Given the description of an element on the screen output the (x, y) to click on. 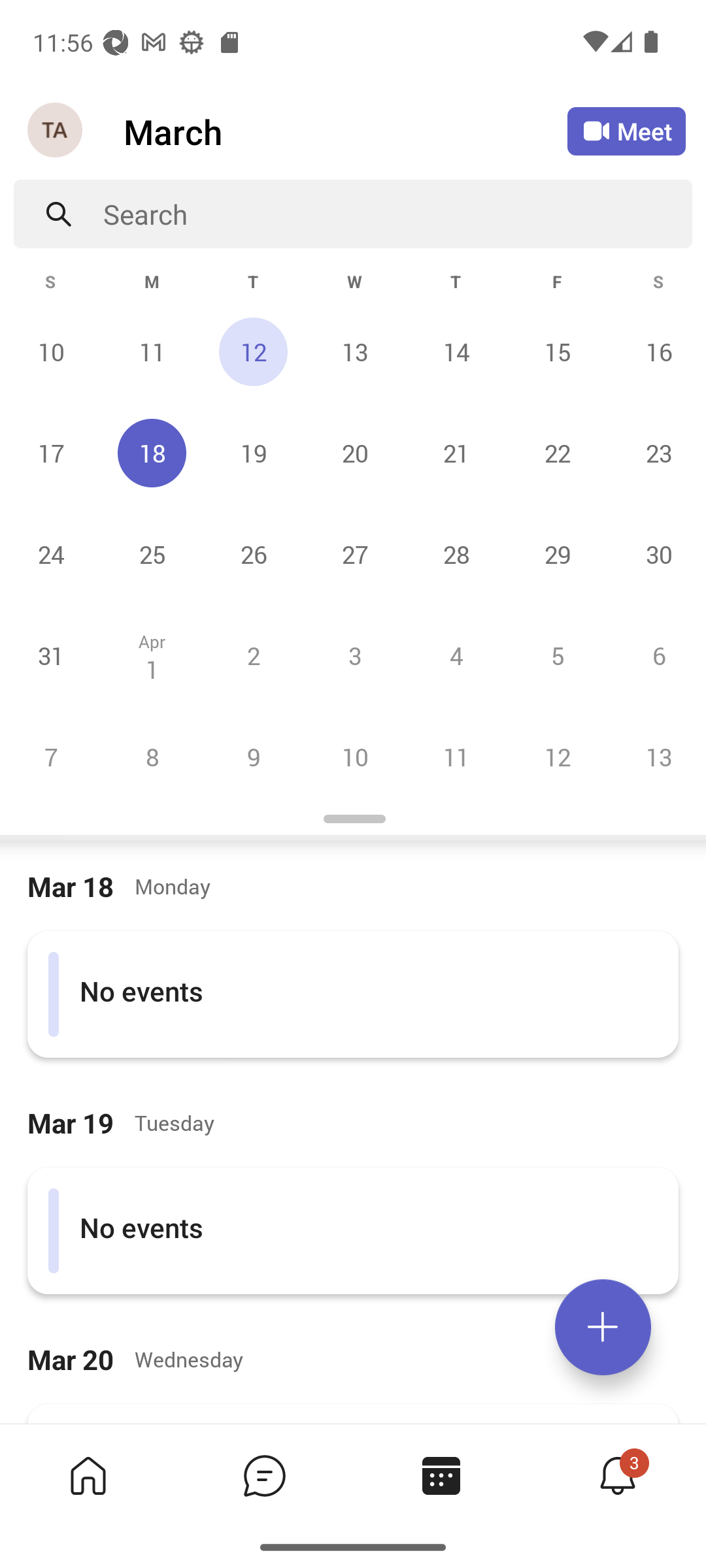
Navigation (56, 130)
Meet Meet now or join with an ID (626, 130)
March March Calendar Agenda View (345, 131)
Search (397, 213)
Sunday, March 10 10 (50, 351)
Monday, March 11 11 (151, 351)
Tuesday, March 12, Today 12 (253, 351)
Wednesday, March 13 13 (354, 351)
Thursday, March 14 14 (455, 351)
Friday, March 15 15 (556, 351)
Saturday, March 16 16 (656, 351)
Sunday, March 17 17 (50, 452)
Monday, March 18, Selected 18 (151, 452)
Tuesday, March 19 19 (253, 452)
Wednesday, March 20 20 (354, 452)
Thursday, March 21 21 (455, 452)
Friday, March 22 22 (556, 452)
Saturday, March 23 23 (656, 452)
Sunday, March 24 24 (50, 554)
Monday, March 25 25 (151, 554)
Tuesday, March 26 26 (253, 554)
Wednesday, March 27 27 (354, 554)
Thursday, March 28 28 (455, 554)
Friday, March 29 29 (556, 554)
Saturday, March 30 30 (656, 554)
Sunday, March 31 31 (50, 655)
Monday, April 1 Apr 1 (151, 655)
Tuesday, April 2 2 (253, 655)
Wednesday, April 3 3 (354, 655)
Thursday, April 4 4 (455, 655)
Friday, April 5 5 (556, 655)
Saturday, April 6 6 (656, 655)
Sunday, April 7 7 (50, 756)
Monday, April 8 8 (151, 756)
Tuesday, April 9 9 (253, 756)
Wednesday, April 10 10 (354, 756)
Thursday, April 11 11 (455, 756)
Friday, April 12 12 (556, 756)
Saturday, April 13 13 (656, 756)
Expand meetings menu (602, 1327)
Home tab,1 of 4, not selected (88, 1475)
Chat tab,2 of 4, not selected (264, 1475)
Calendar tab, 3 of 4 (441, 1475)
Activity tab,4 of 4, not selected, 3 new 3 (617, 1475)
